Given the description of an element on the screen output the (x, y) to click on. 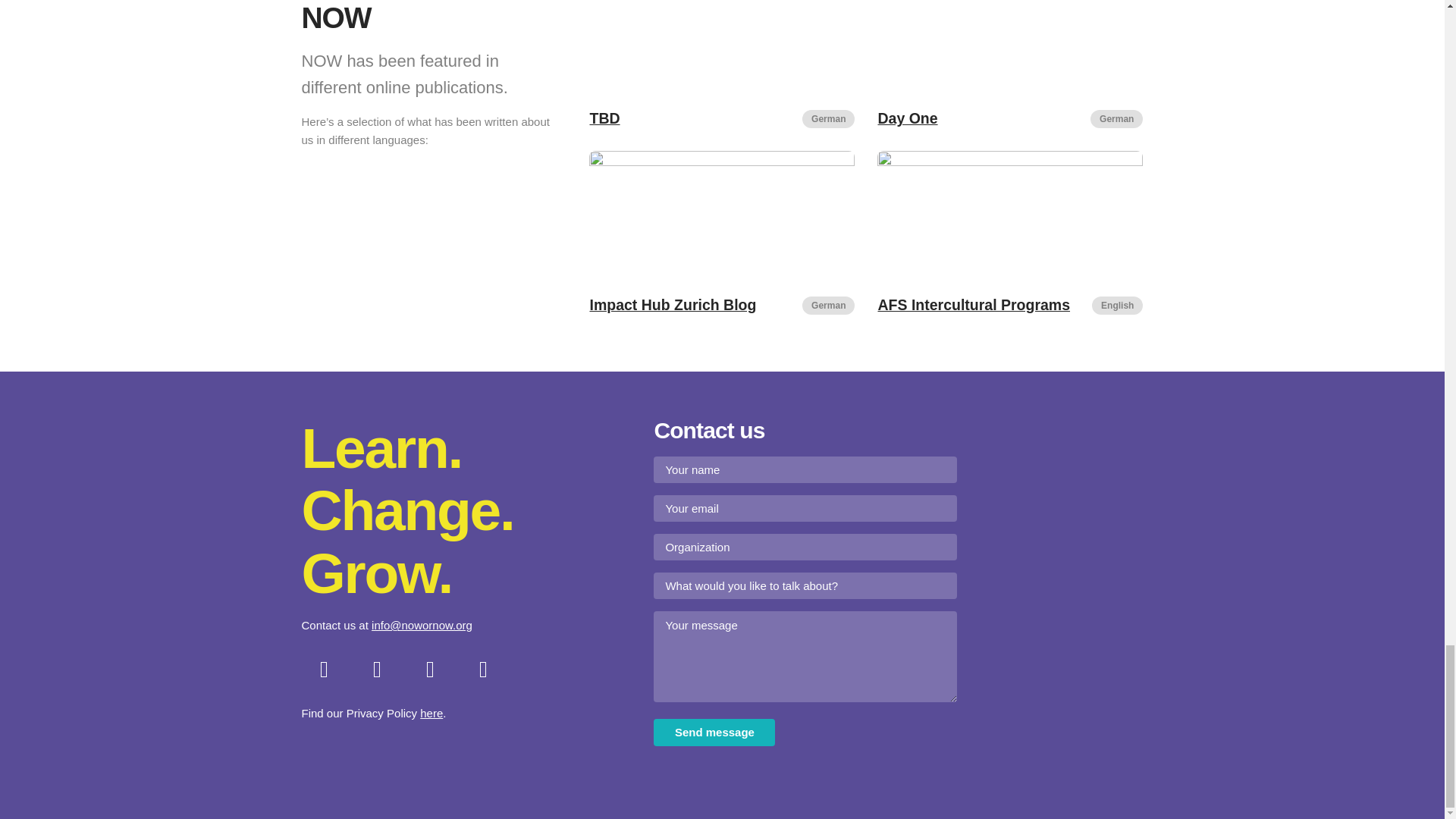
Day One (907, 117)
AFS Intercultural Programs (973, 304)
Send message (713, 732)
Impact Hub Zurich Blog (672, 304)
TBD (604, 117)
